Given the description of an element on the screen output the (x, y) to click on. 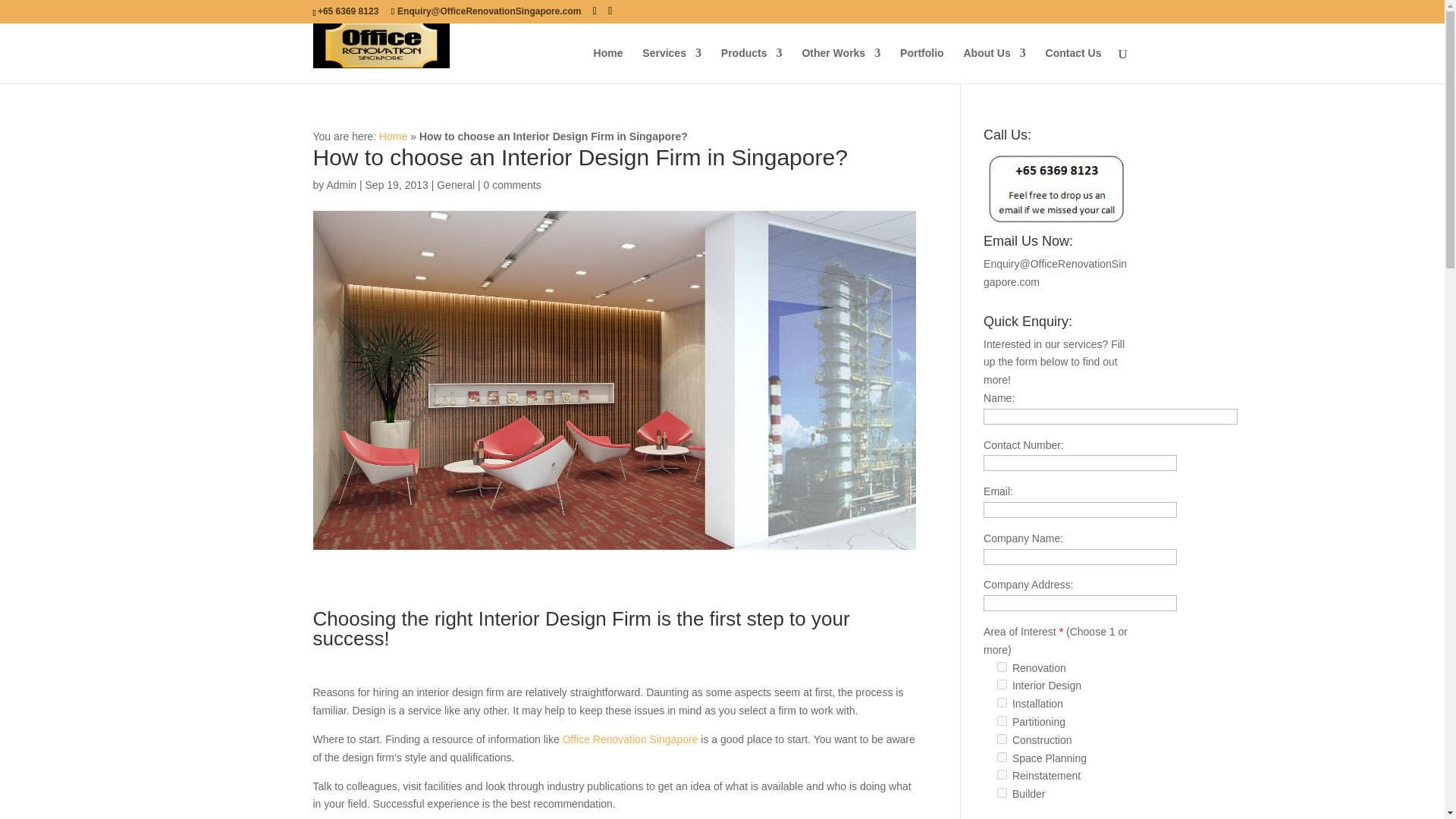
About Us (993, 65)
Admin (341, 184)
Partitioning (1002, 720)
Contact Us (1073, 65)
Reinstatement (1002, 774)
Construction (1002, 738)
Builder (1002, 792)
Renovation (1002, 666)
Services (671, 65)
Interior Design (1002, 684)
Other Works (841, 65)
Office Renovation Singapore (630, 739)
Space Planning (1002, 757)
Posts by Admin (341, 184)
General (455, 184)
